Given the description of an element on the screen output the (x, y) to click on. 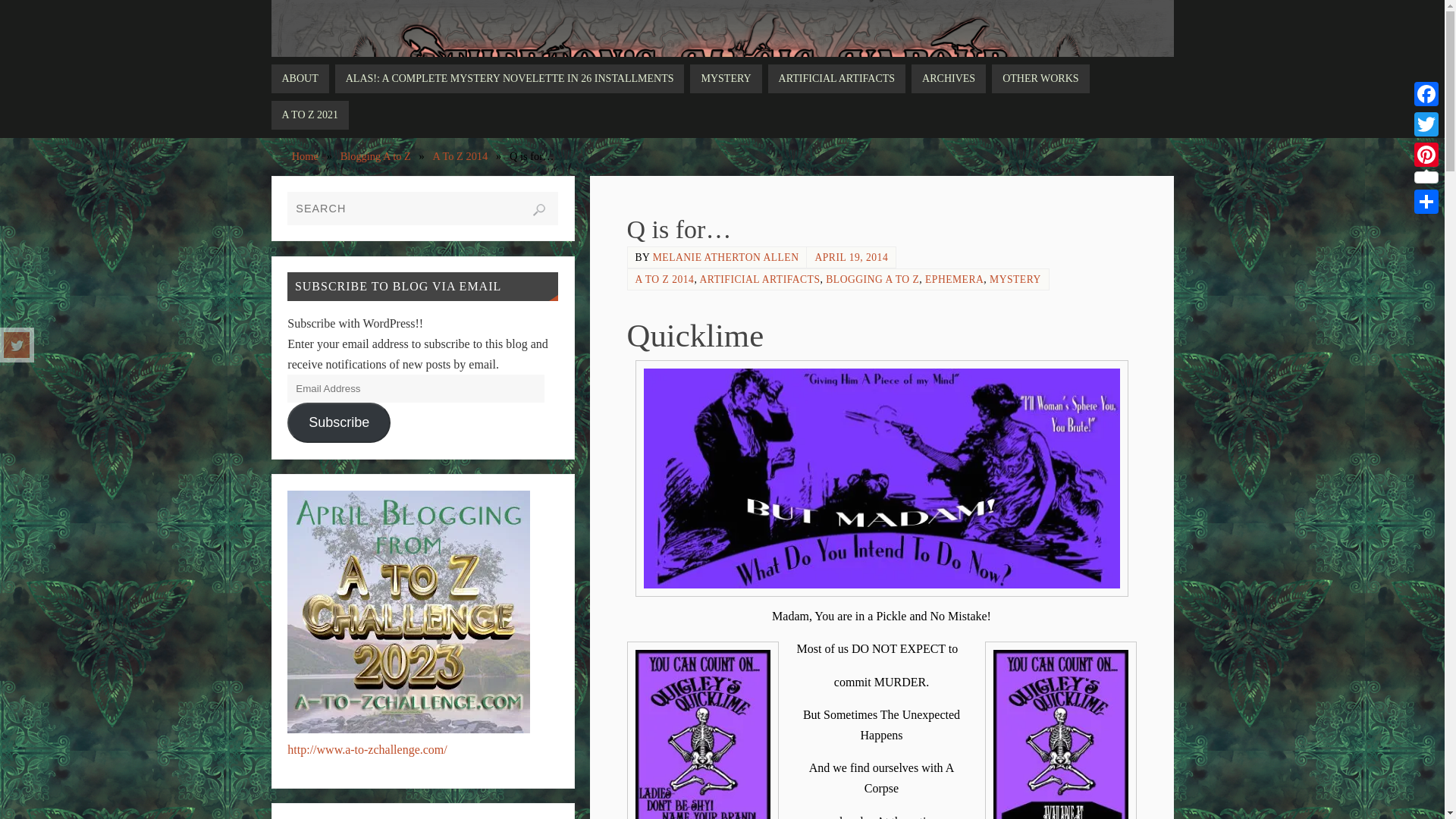
Twitter (16, 344)
Home (305, 155)
A To Z 2014 (459, 155)
A TO Z 2021 (309, 114)
ARTIFICIAL ARTIFACTS (758, 279)
EPHEMERA (954, 279)
MYSTERY (1015, 279)
A TO Z 2014 (664, 279)
ABOUT (299, 78)
MYSTERY (725, 78)
